Given the description of an element on the screen output the (x, y) to click on. 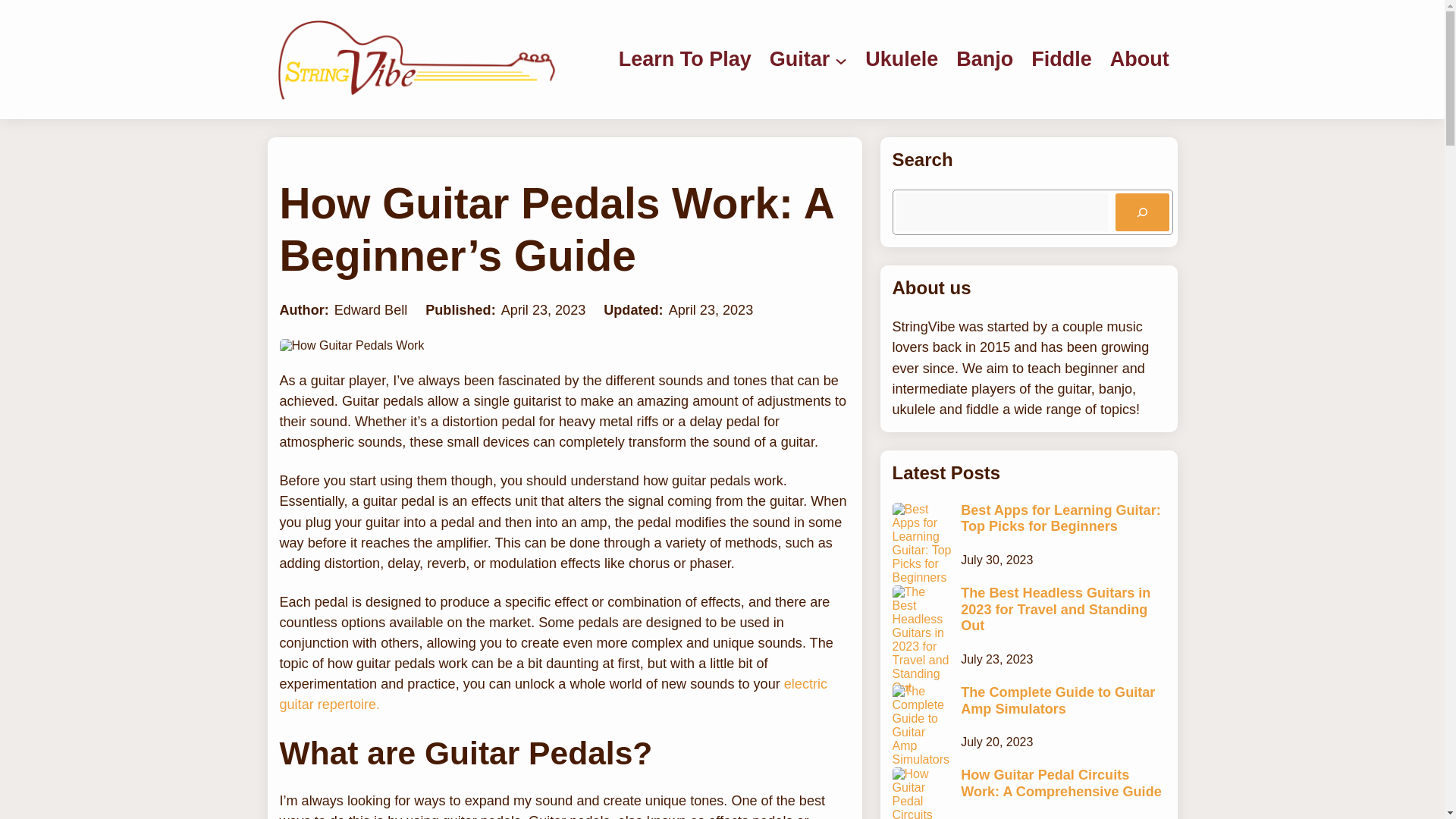
Guitar (799, 59)
Fiddle (1061, 59)
Ukulele (900, 59)
Banjo (984, 59)
Learn To Play (684, 59)
electric guitar repertoire. (553, 693)
About (1139, 59)
